Given the description of an element on the screen output the (x, y) to click on. 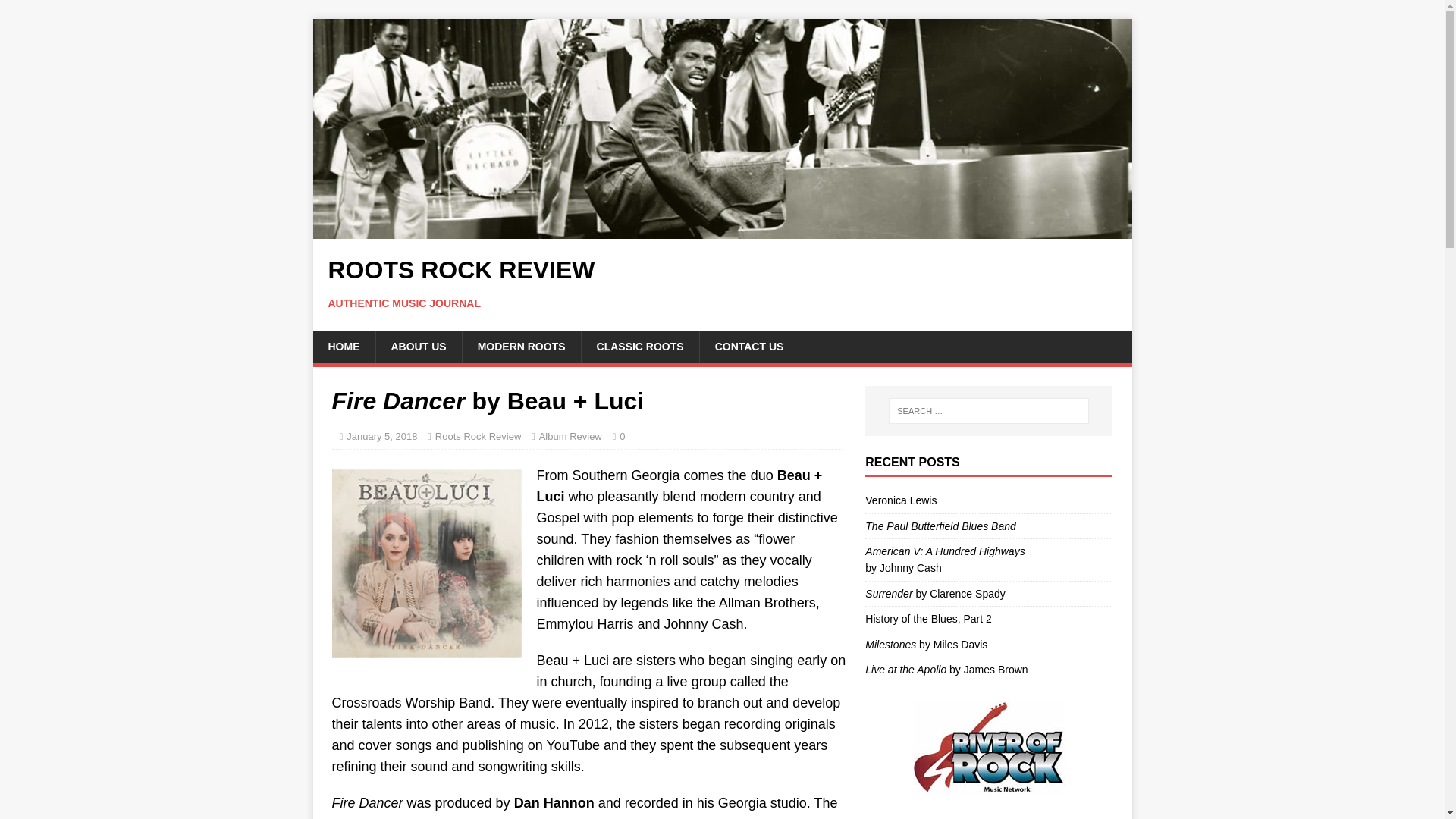
Roots Rock Review (721, 283)
Roots Rock Review (722, 230)
Milestones by Miles Davis (721, 283)
Album Review (944, 559)
Veronica Lewis (925, 644)
History of the Blues, Part 2 (570, 436)
MODERN ROOTS (900, 500)
Surrender by Clarence Spady (927, 618)
